Given the description of an element on the screen output the (x, y) to click on. 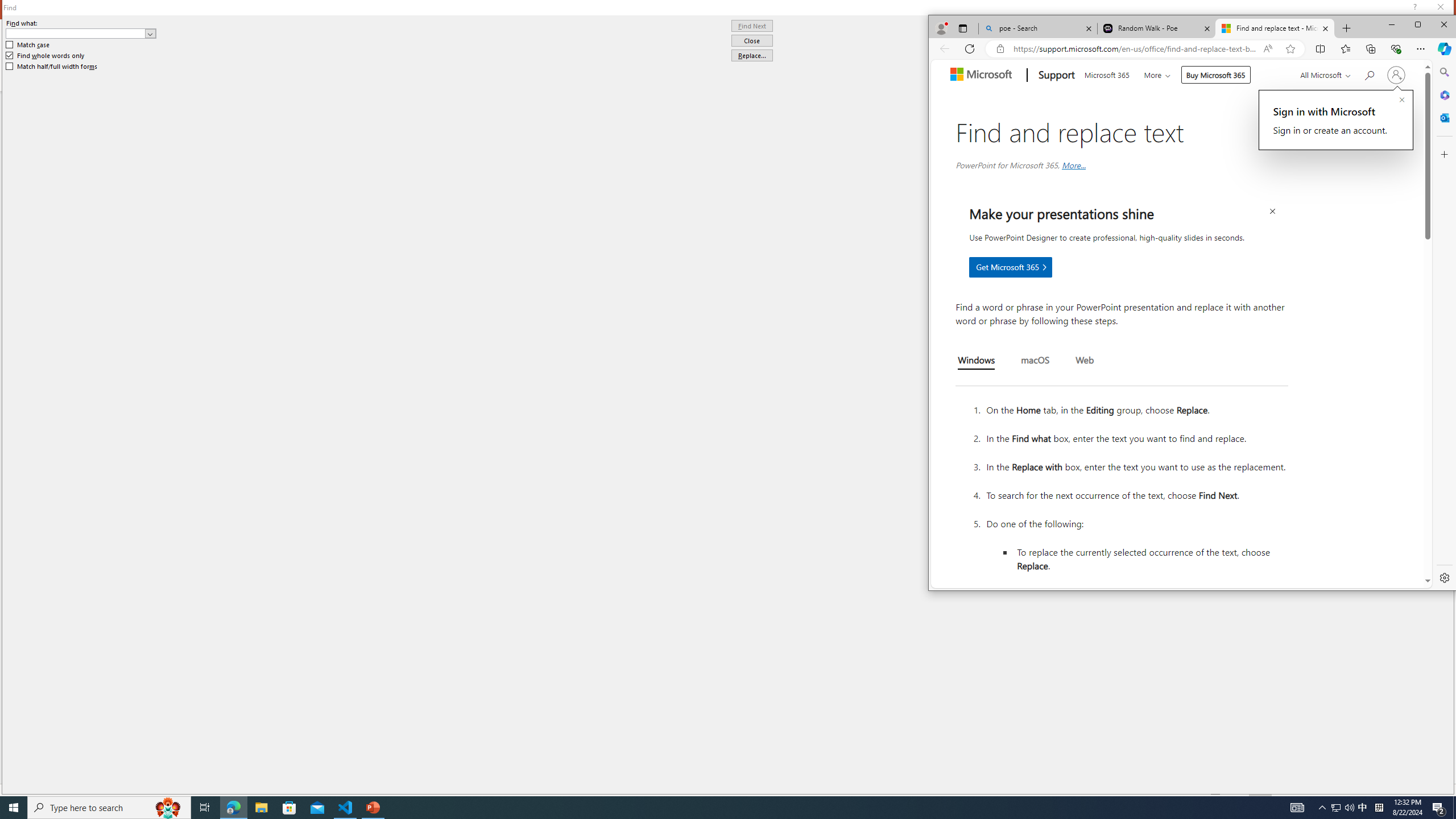
Close tab (1325, 28)
